Given the description of an element on the screen output the (x, y) to click on. 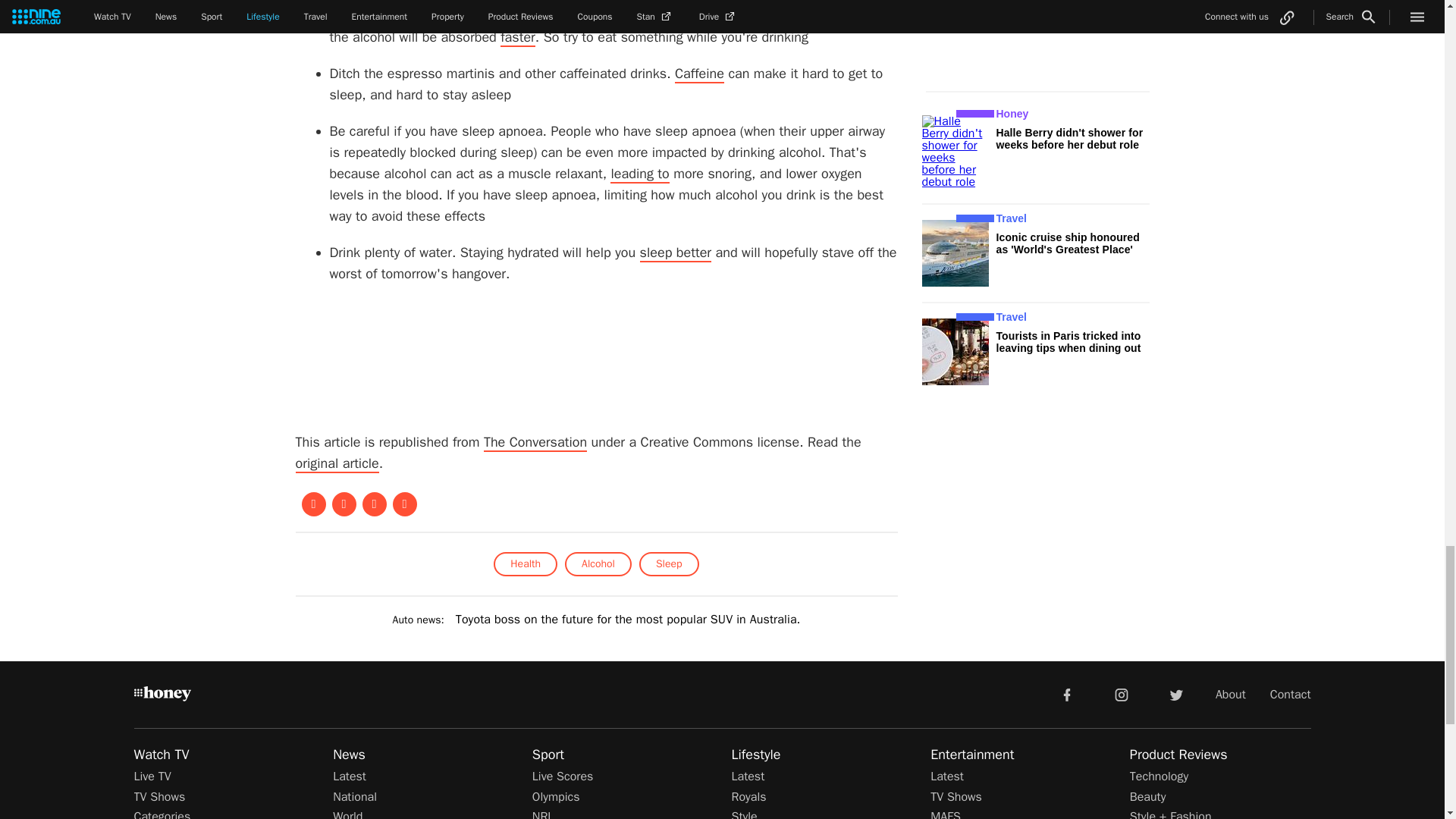
facebook (1066, 694)
instagram (1121, 694)
twitter (1175, 694)
